Given the description of an element on the screen output the (x, y) to click on. 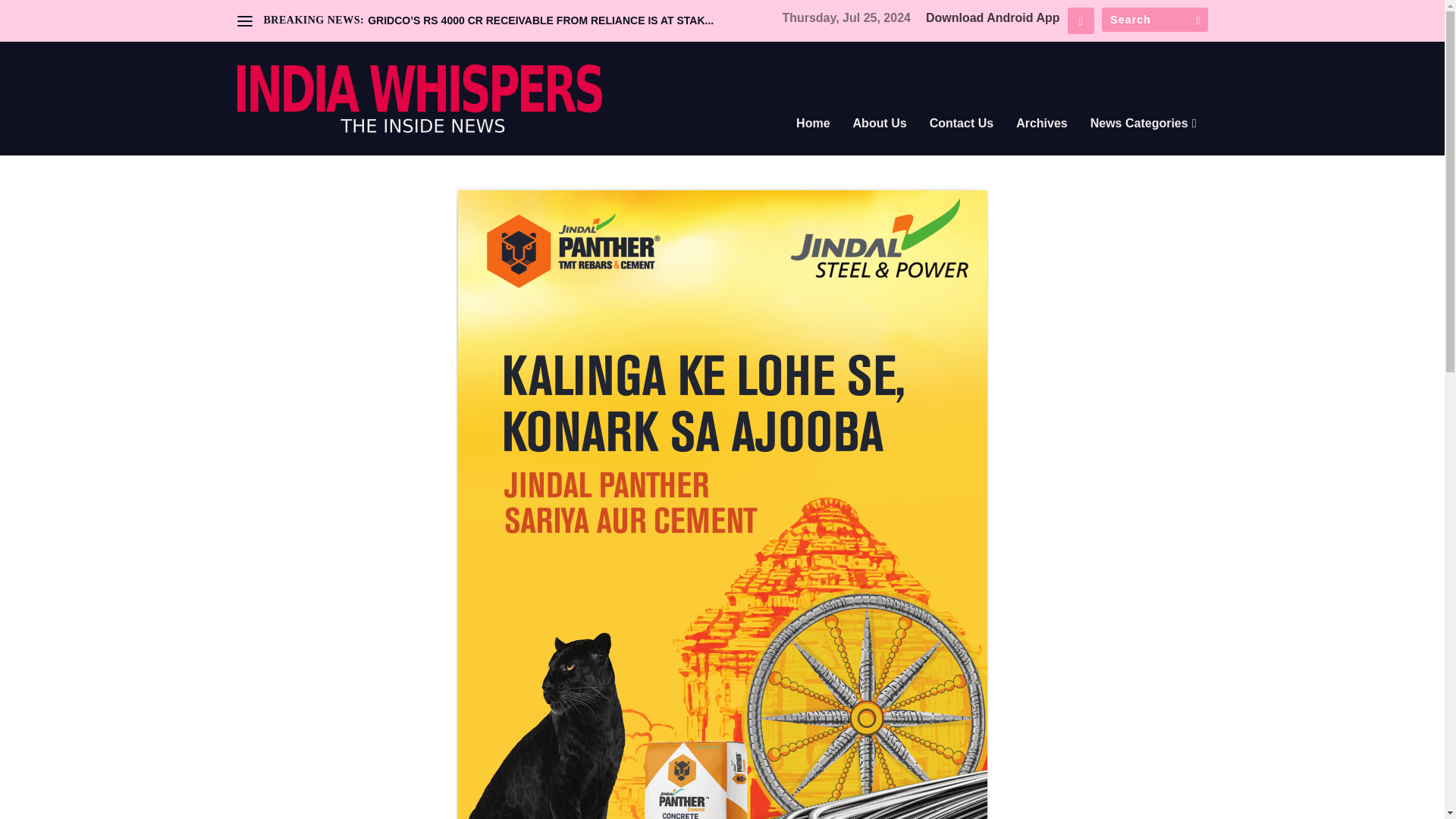
News Categories (1143, 143)
Archives (1041, 143)
Contact Us (961, 143)
Download Android App (992, 17)
Search for: (1153, 19)
About Us (880, 143)
